Given the description of an element on the screen output the (x, y) to click on. 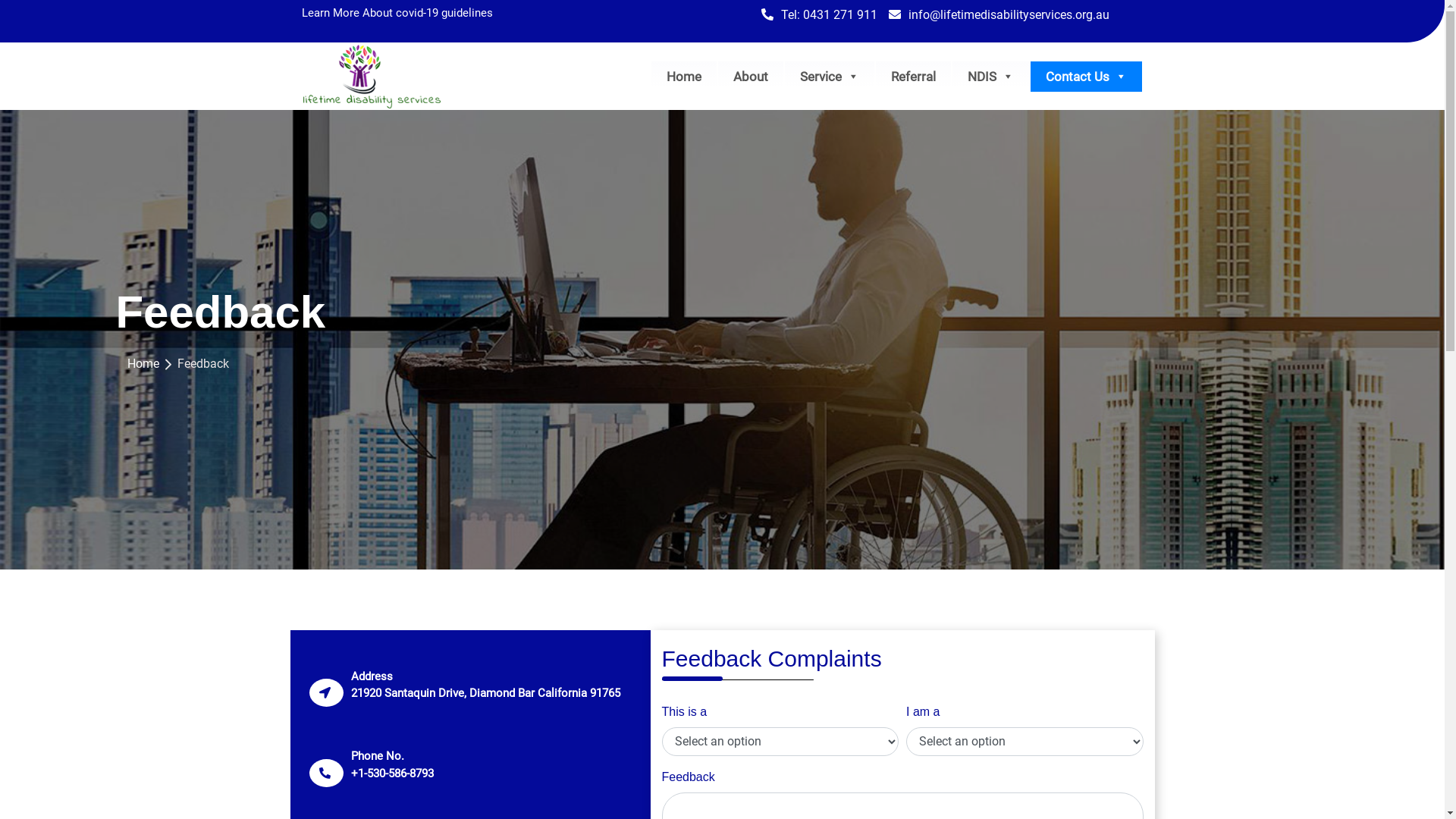
info@lifetimedisabilityservices.org.au Element type: text (1004, 15)
About Element type: text (749, 75)
NDIS Element type: text (990, 75)
Referral Element type: text (912, 75)
Learn More About covid-19 guidelines Element type: text (396, 12)
Contact Us Element type: text (1085, 75)
Address
21920 Santaquin Drive, Diamond Bar California 91765 Element type: text (480, 685)
Home Element type: text (143, 363)
Home Element type: text (682, 75)
Service Element type: text (828, 75)
Tel: 0431 271 911 Element type: text (824, 15)
Phone No.
+1-530-586-8793 Element type: text (387, 764)
